Given the description of an element on the screen output the (x, y) to click on. 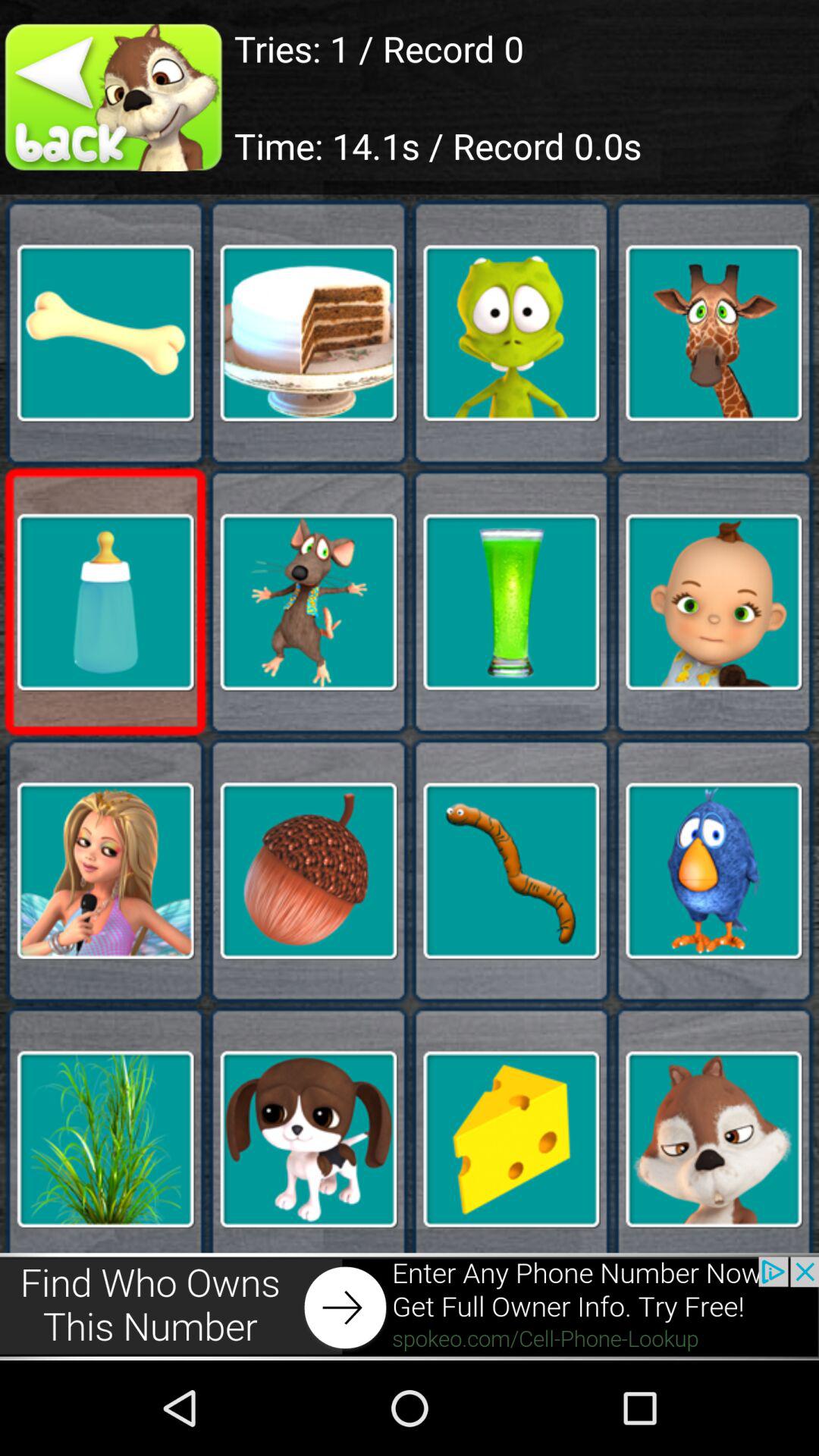
go to advertisement page (409, 1306)
